Given the description of an element on the screen output the (x, y) to click on. 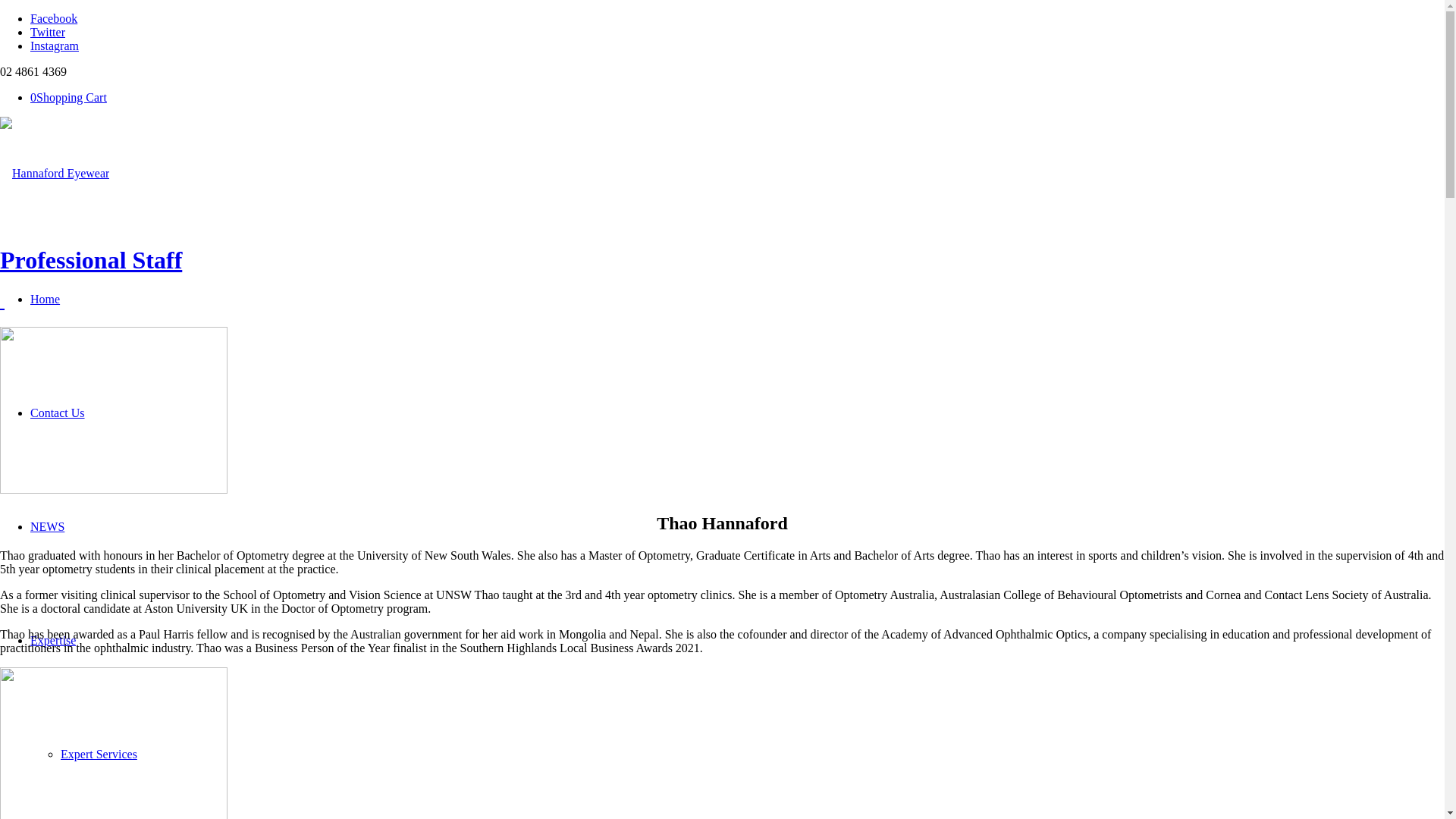
Professional Staff Element type: text (91, 259)
NEWS Element type: text (47, 526)
Expert Services Element type: text (98, 753)
Expertise Element type: text (52, 639)
Twitter Element type: text (47, 31)
Facebook Element type: text (53, 18)
Instagram Element type: text (54, 45)
Contact Us Element type: text (57, 412)
  Element type: text (2, 300)
Home Element type: text (44, 298)
0Shopping Cart Element type: text (68, 97)
